Given the description of an element on the screen output the (x, y) to click on. 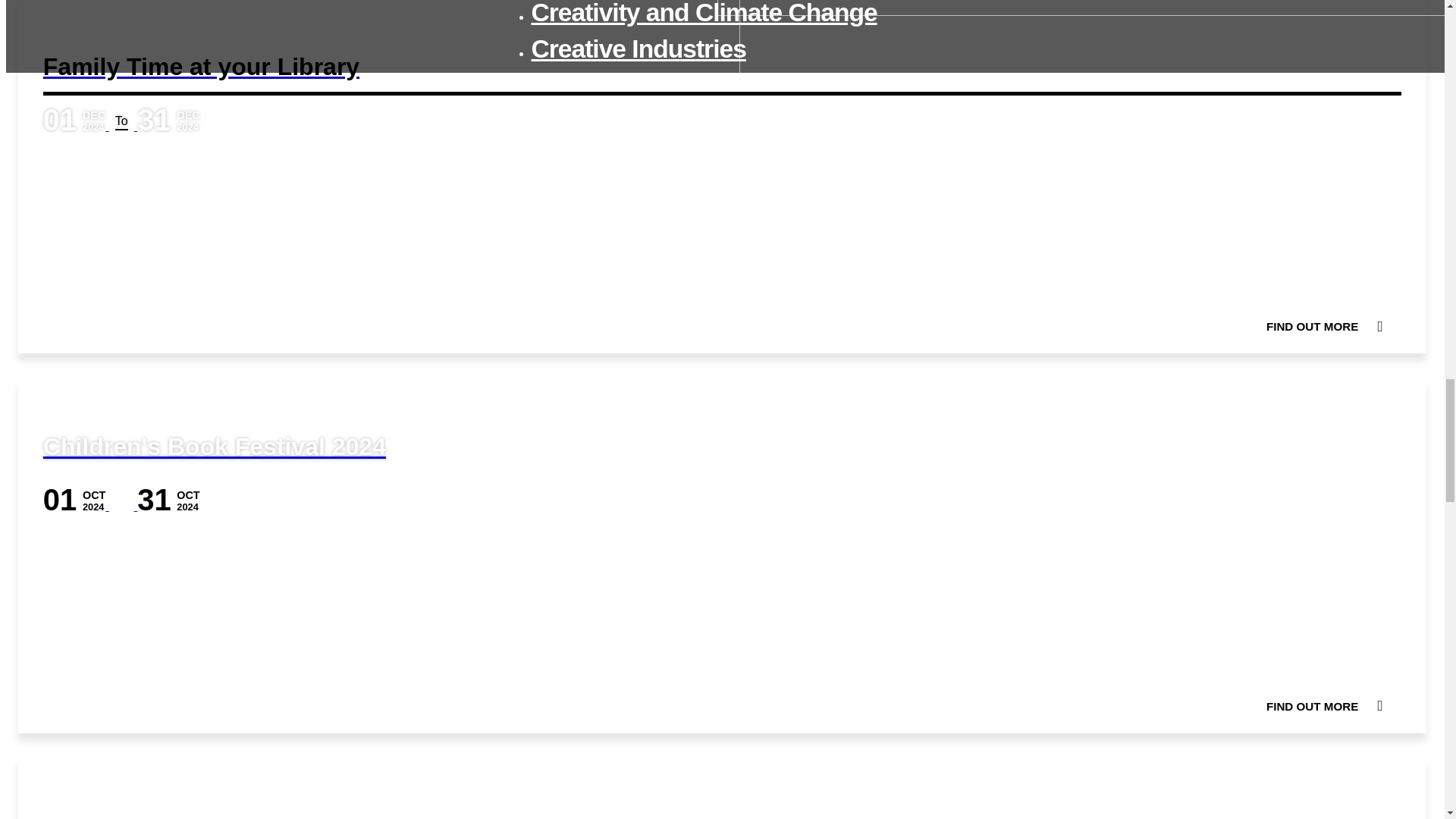
Positive Ageing Week 2024 (721, 788)
